Given the description of an element on the screen output the (x, y) to click on. 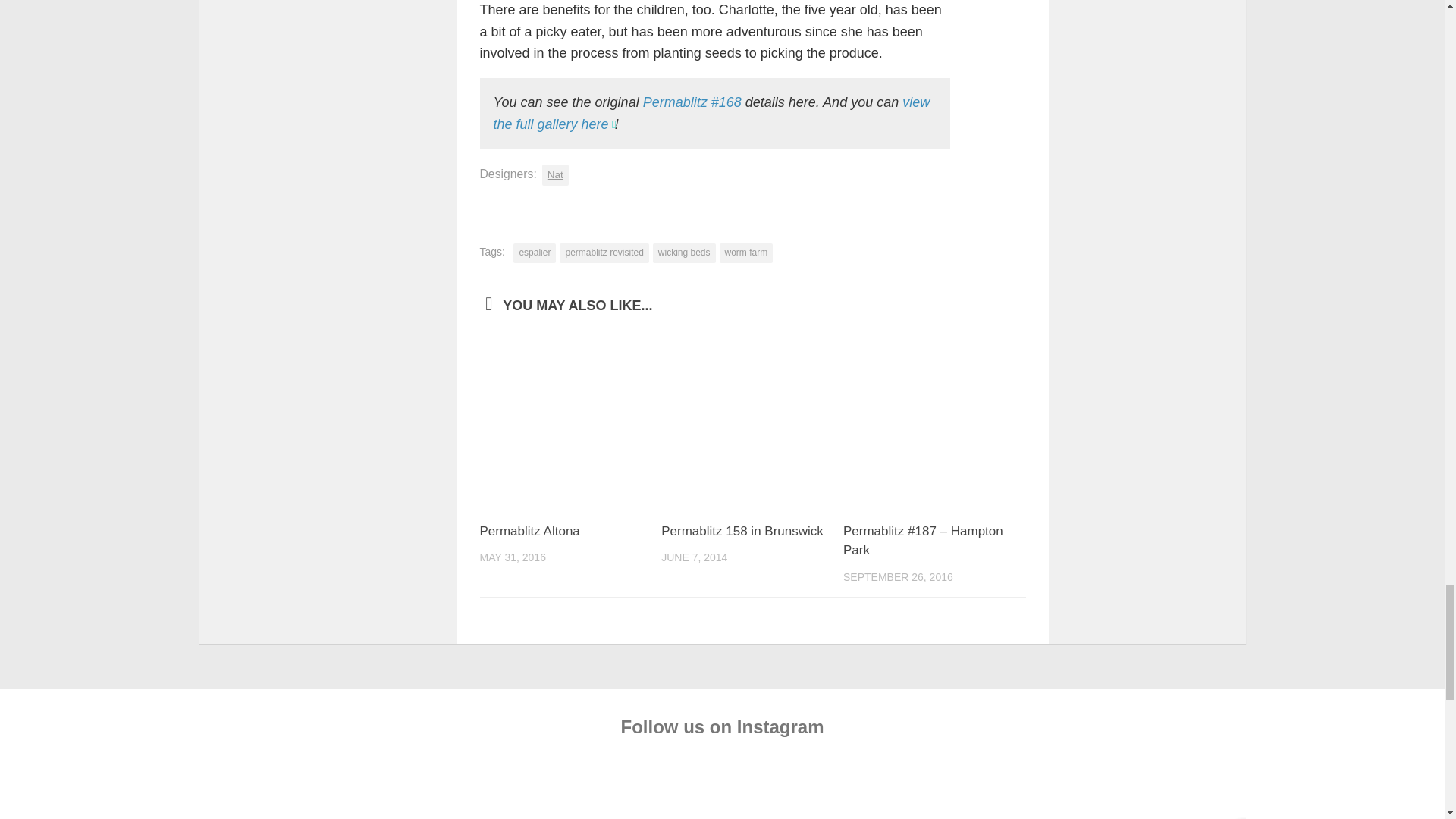
Nat (555, 174)
view the full gallery here (711, 113)
espalier (534, 252)
